Given the description of an element on the screen output the (x, y) to click on. 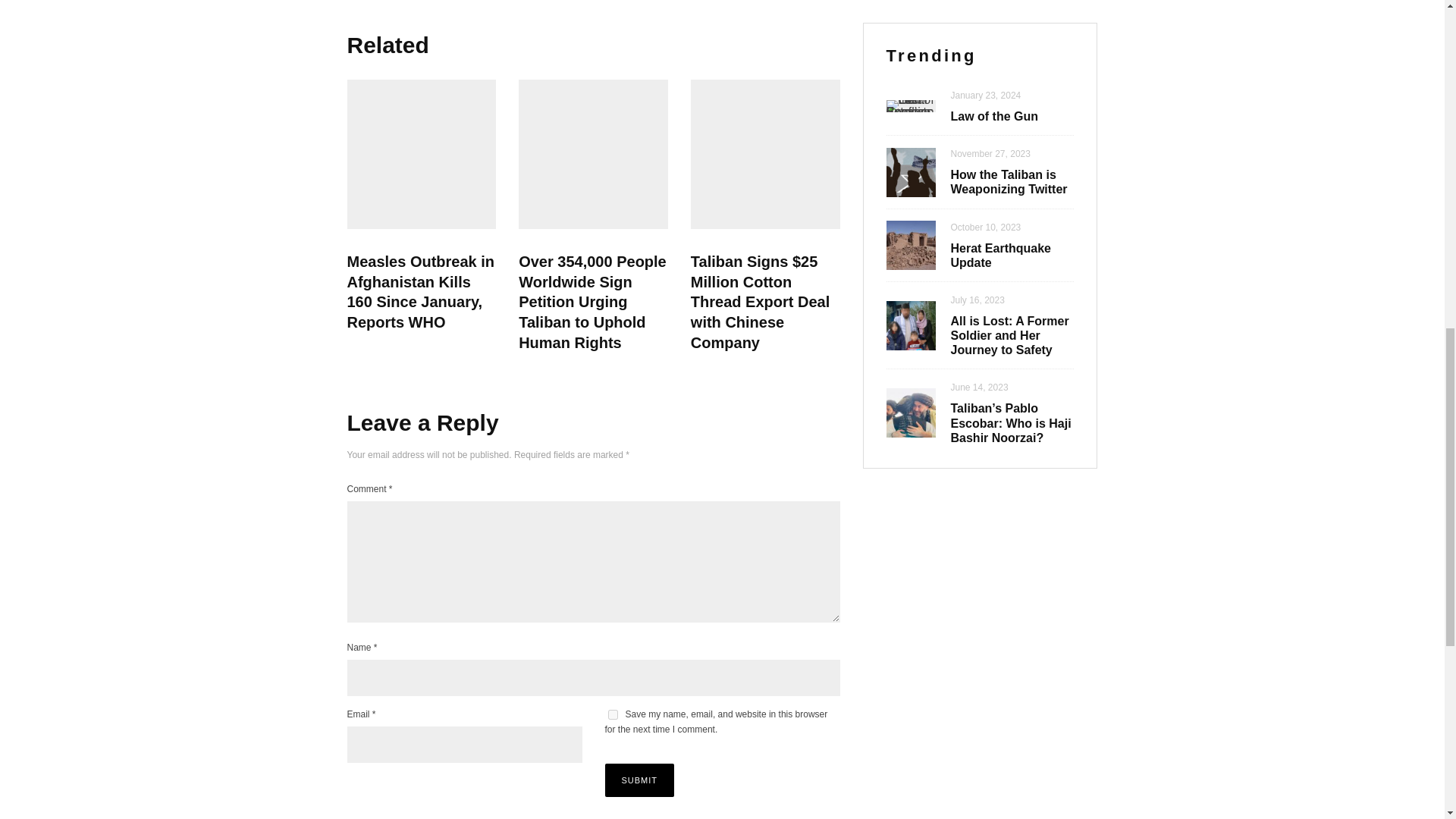
Submit (640, 779)
yes (612, 714)
